Given the description of an element on the screen output the (x, y) to click on. 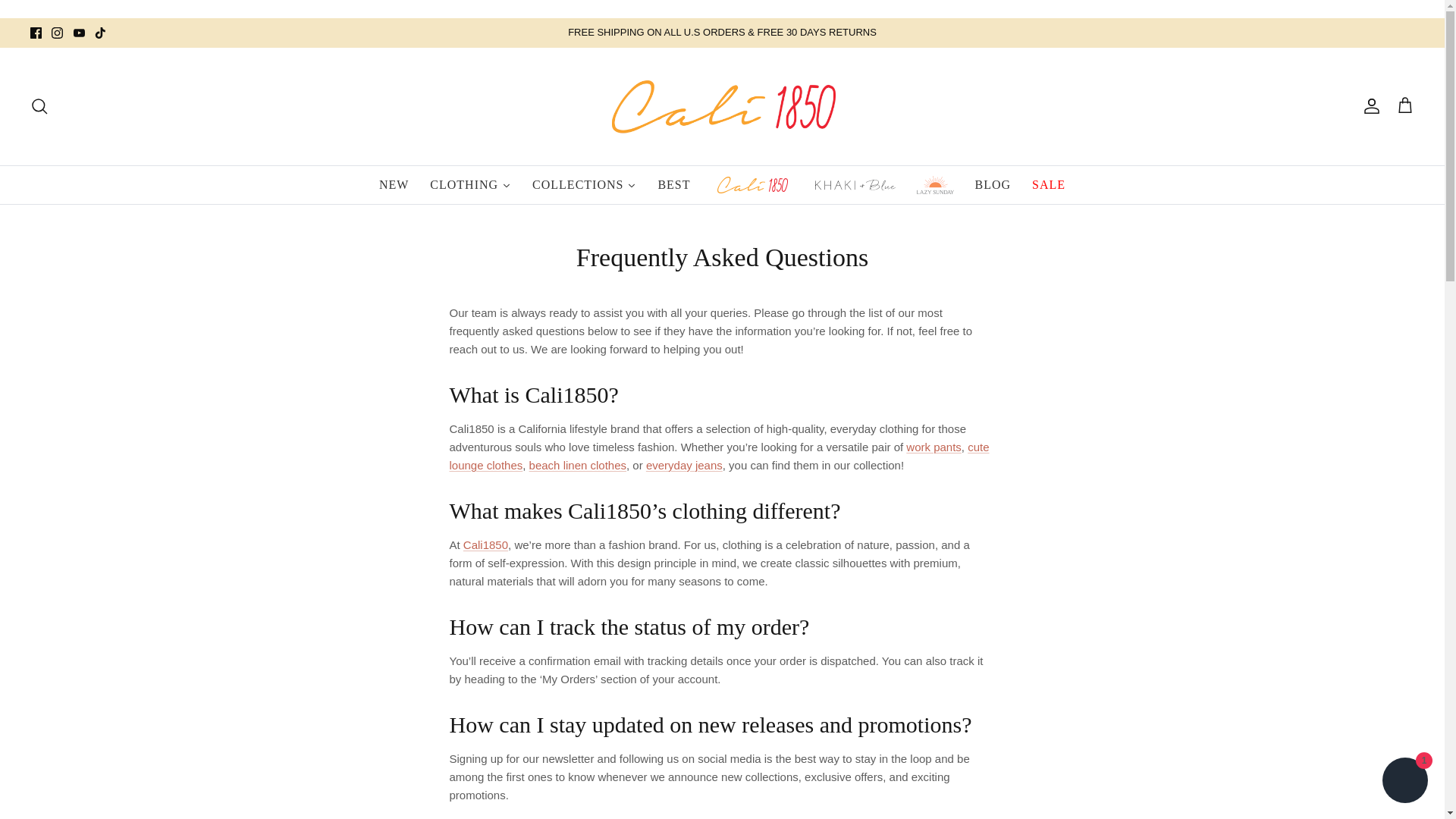
BLOG (992, 184)
BEST (673, 184)
CLOTHING (470, 184)
Facebook (36, 32)
BLOG (992, 184)
Cart (1404, 106)
Account (1368, 106)
BEST (673, 184)
Instagram (56, 32)
Youtube (79, 32)
Instagram (56, 32)
COLLECTIONS (583, 184)
CALI1850 (721, 106)
COLLECTIONS (583, 184)
NEW (393, 184)
